Given the description of an element on the screen output the (x, y) to click on. 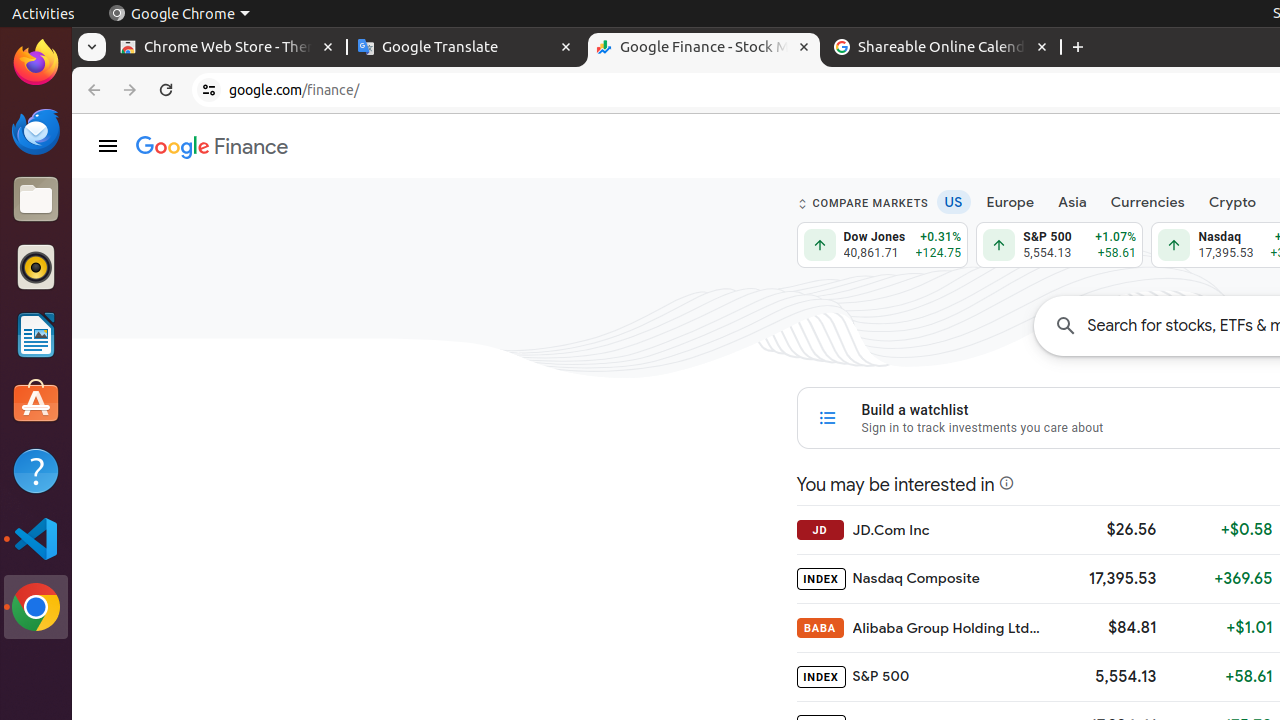
Finance Element type: link (212, 148)
Crypto Element type: page-tab (1232, 202)
Reload Element type: push-button (166, 90)
Forward Element type: push-button (130, 90)
Visual Studio Code Element type: push-button (36, 538)
